Given the description of an element on the screen output the (x, y) to click on. 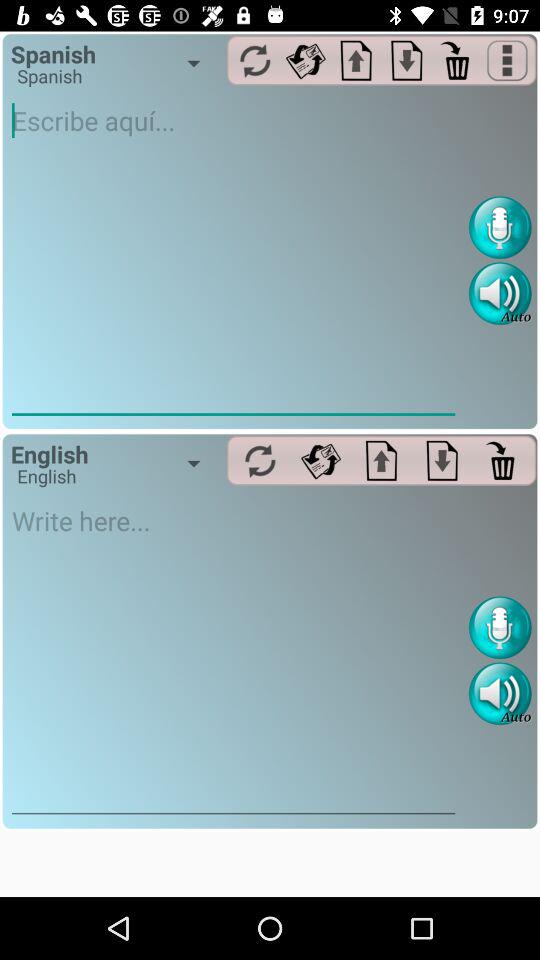
volume control (499, 693)
